Given the description of an element on the screen output the (x, y) to click on. 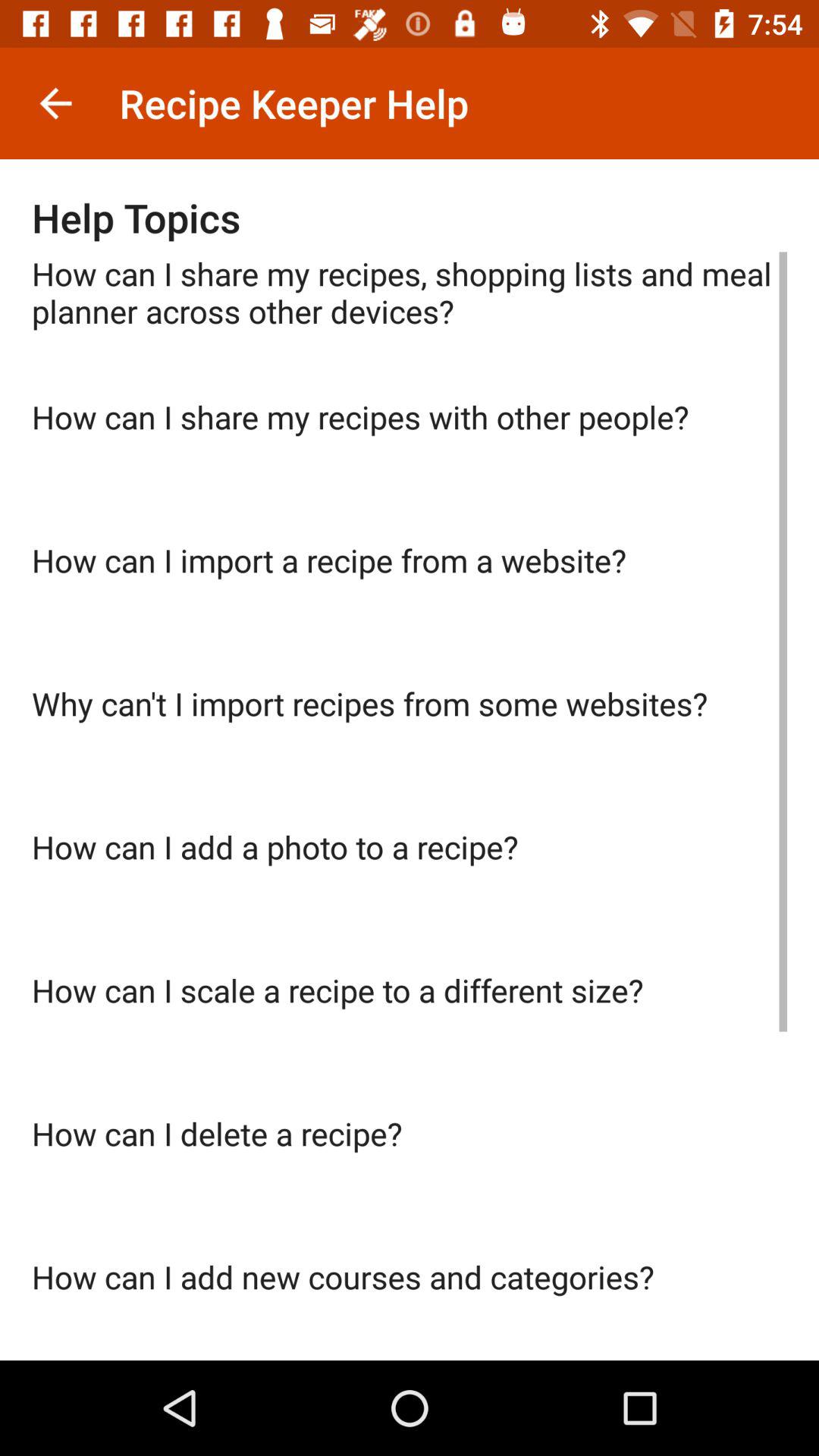
open item to the left of the recipe keeper help app (55, 103)
